Given the description of an element on the screen output the (x, y) to click on. 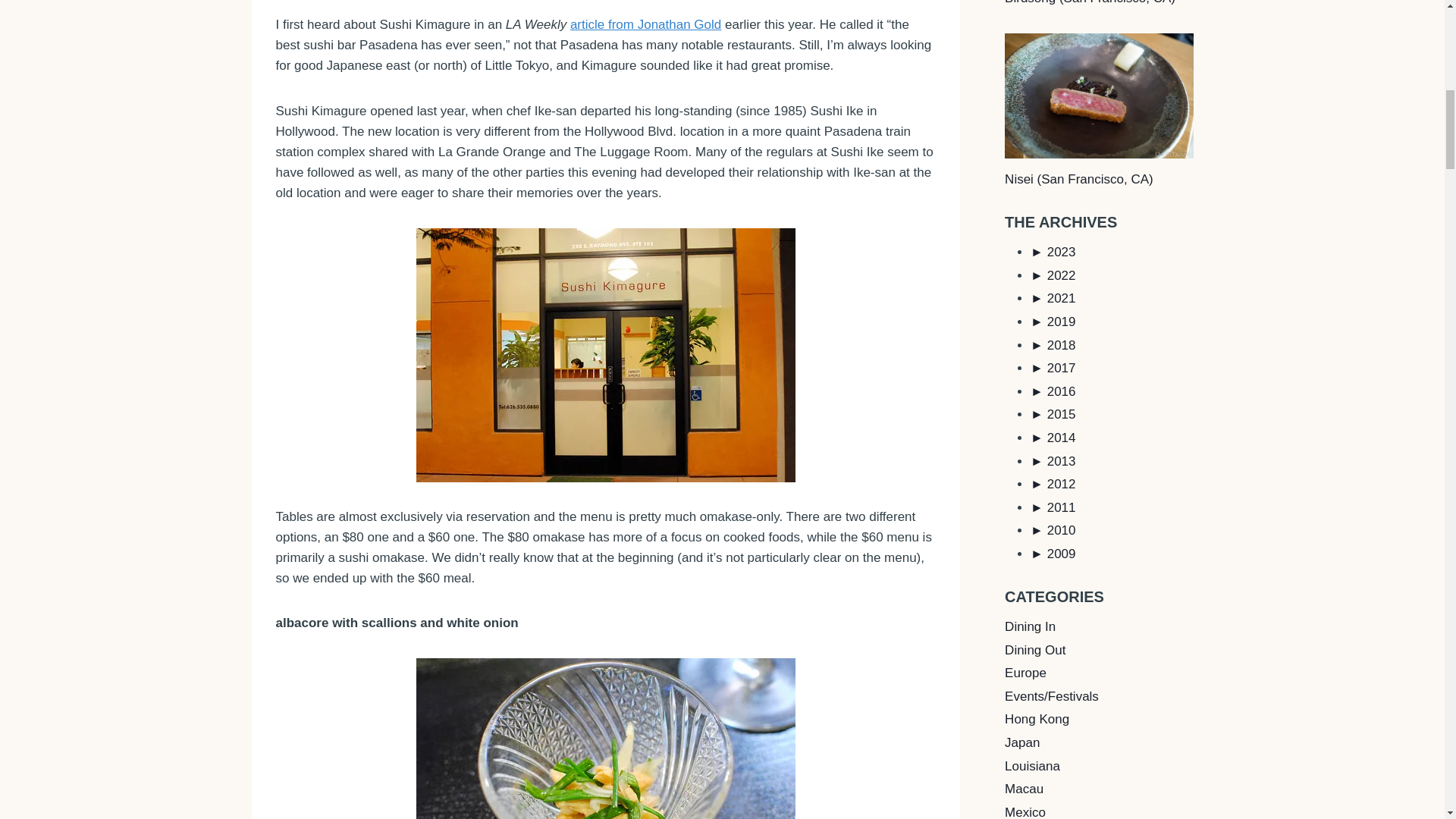
article from Jonathan Gold (645, 24)
